Given the description of an element on the screen output the (x, y) to click on. 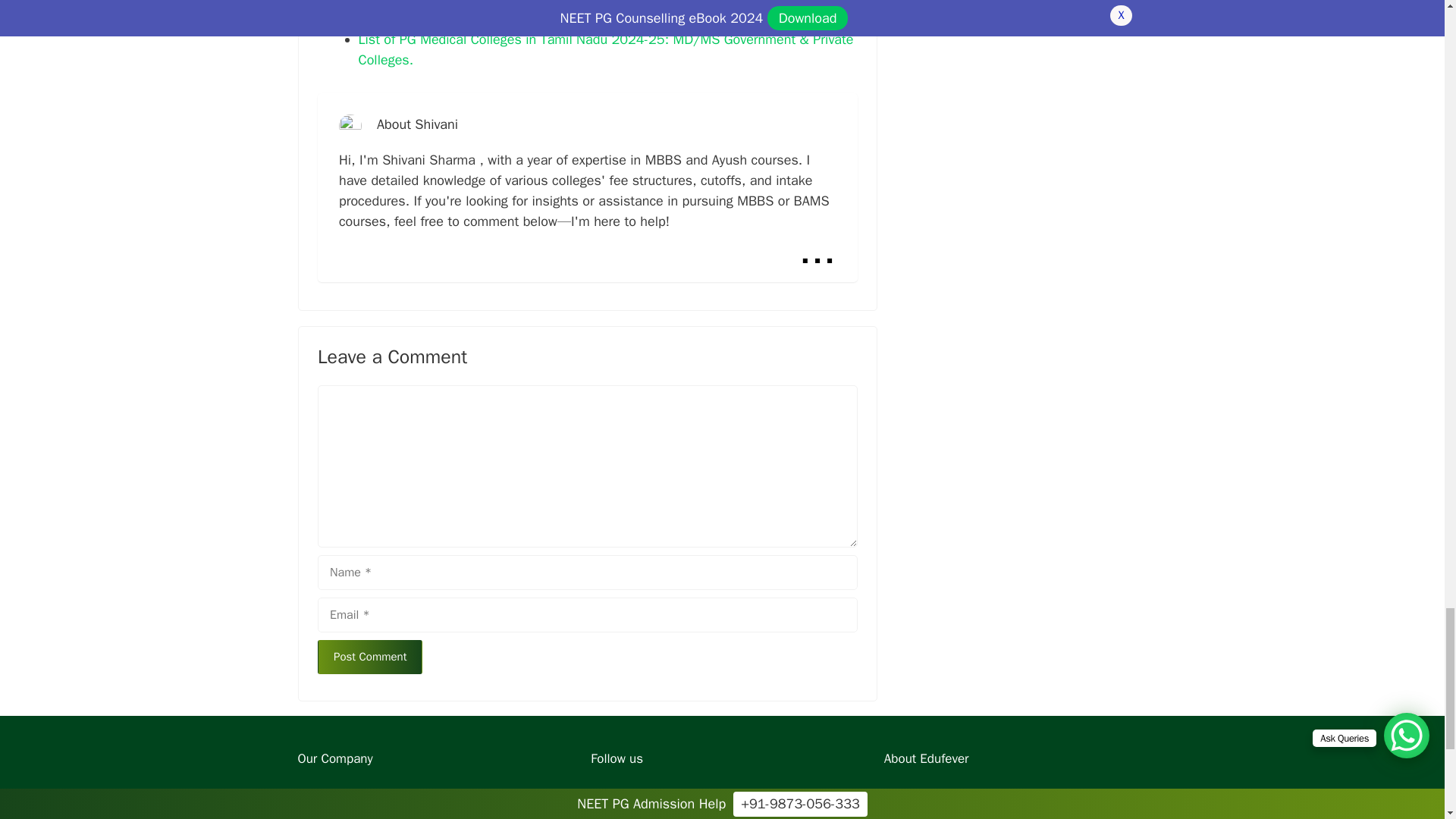
Post Comment (369, 656)
Read more (816, 249)
